Given the description of an element on the screen output the (x, y) to click on. 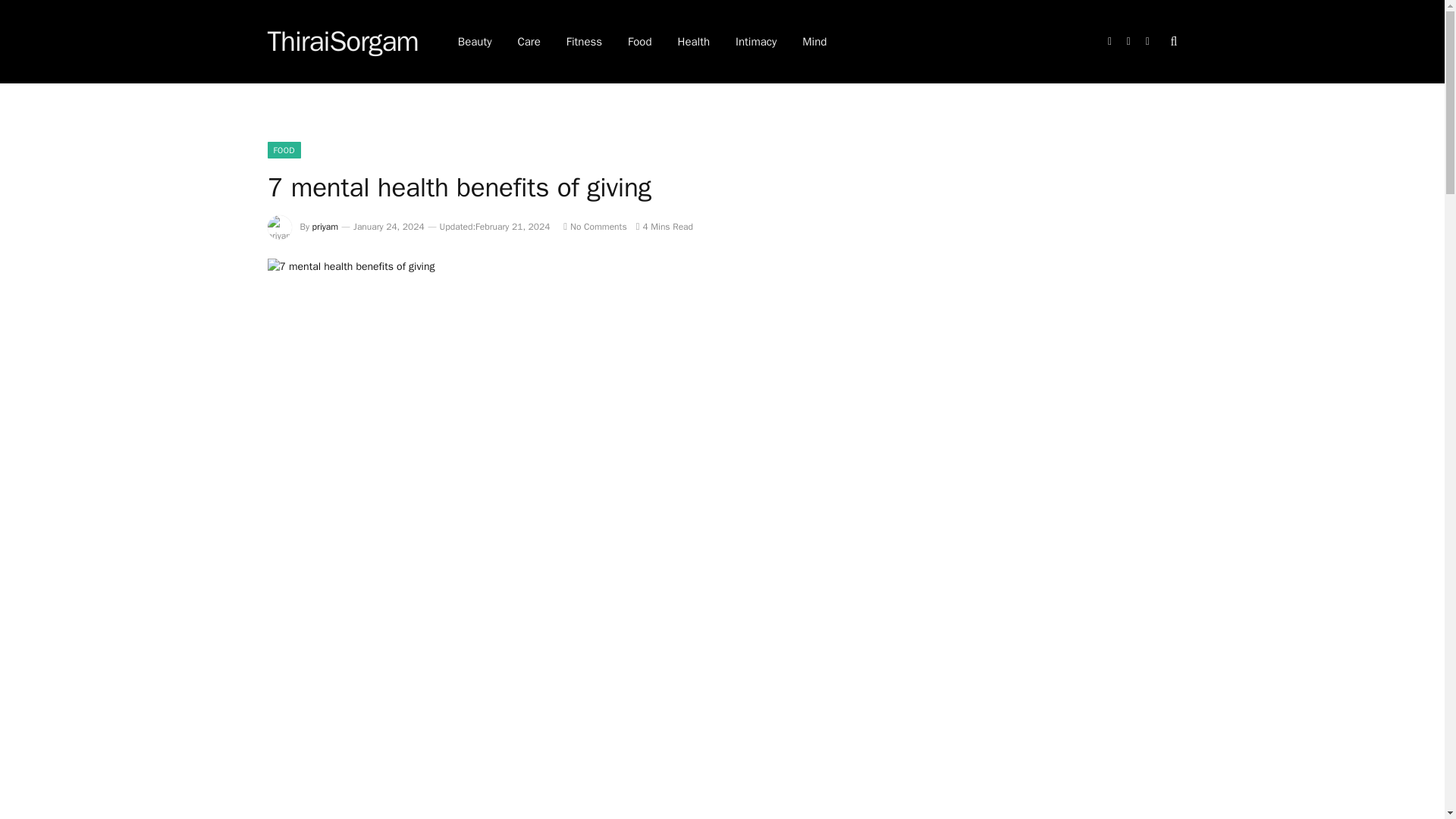
priyam (326, 226)
No Comments (594, 226)
FOOD (282, 149)
ThiraiSorgam (341, 41)
ThiraiSorgam (341, 41)
Posts by priyam (326, 226)
